Given the description of an element on the screen output the (x, y) to click on. 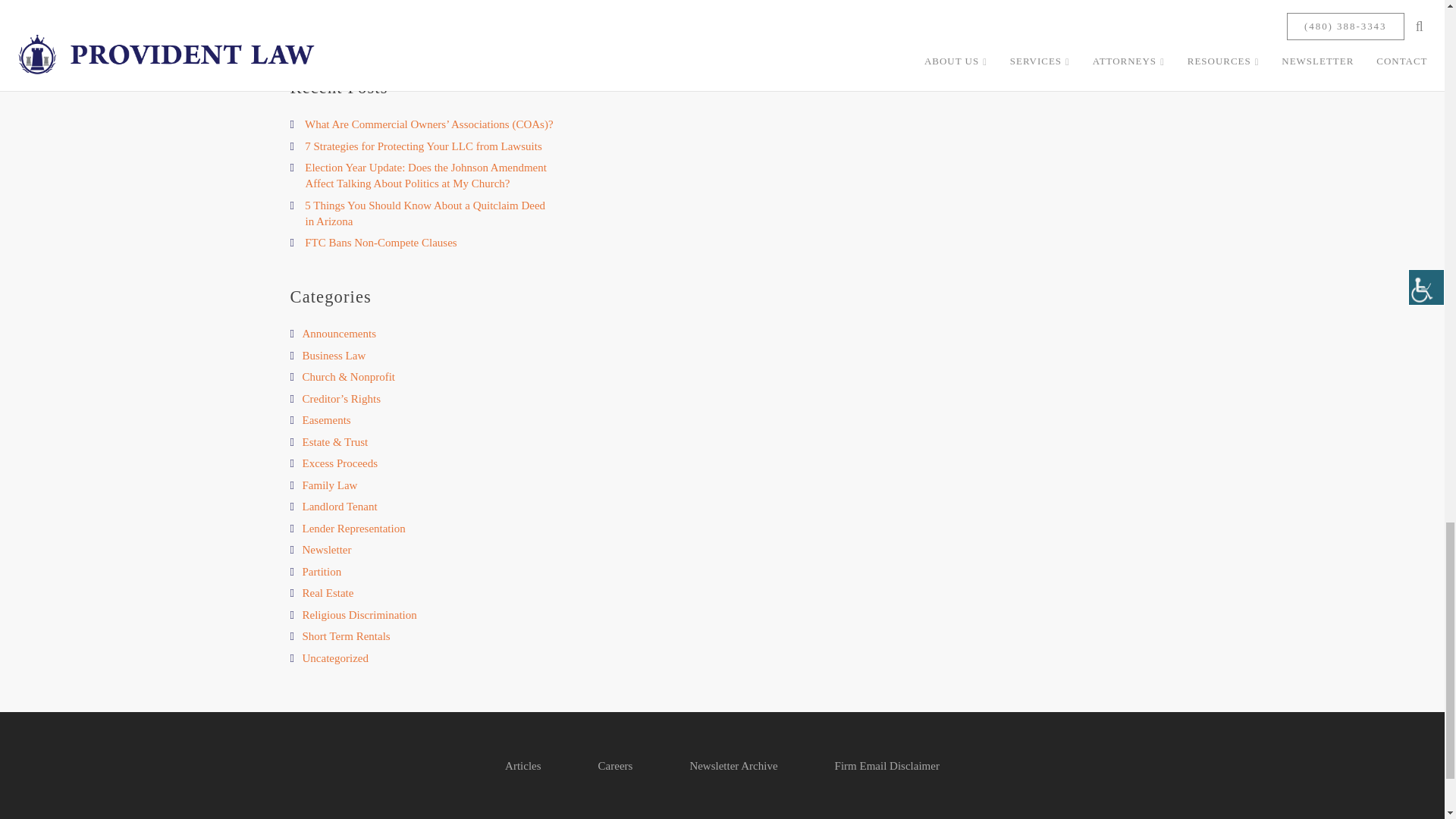
Share this (421, 26)
Tweet this (381, 26)
Email this (299, 26)
Share this (340, 26)
